Given the description of an element on the screen output the (x, y) to click on. 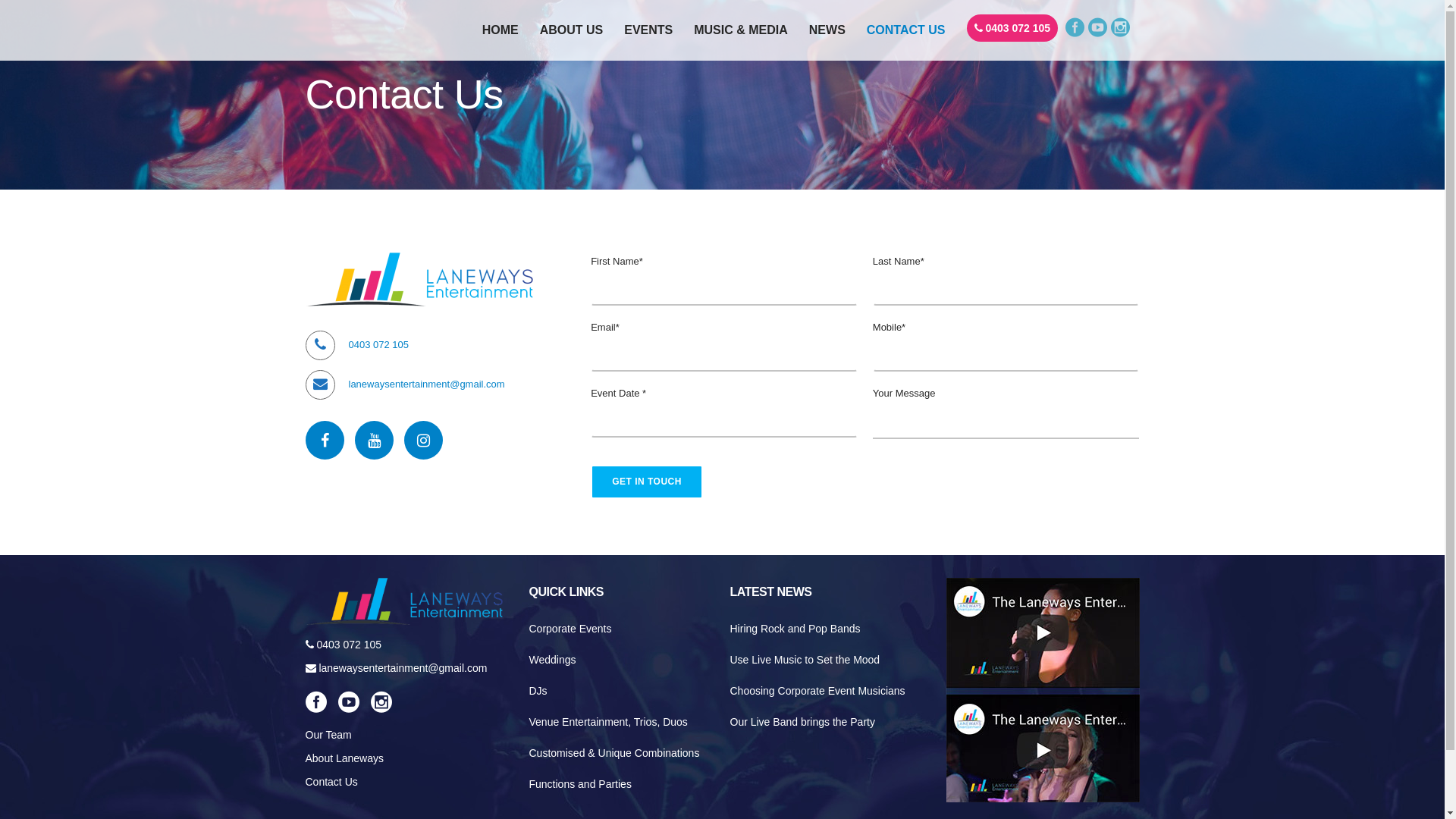
lanewaysentertainment@gmail.com Element type: text (426, 383)
HOME Element type: text (500, 30)
EVENTS Element type: text (648, 30)
CONTACT US Element type: text (906, 30)
DJs Element type: text (622, 690)
Venue Entertainment, Trios, Duos Element type: text (622, 722)
0403 072 105 Element type: text (378, 344)
0403 072 105 Element type: text (342, 644)
ABOUT US Element type: text (571, 30)
Our Team Element type: text (327, 734)
NEWS Element type: text (827, 30)
GET IN TOUCH Element type: text (646, 481)
lanewaysentertainment@gmail.com Element type: text (395, 668)
Customised & Unique Combinations Element type: text (622, 753)
Choosing Corporate Event Musicians Element type: text (827, 690)
Contact Us Element type: text (330, 781)
Functions and Parties Element type: text (622, 784)
Corporate Events Element type: text (622, 628)
About Laneways Element type: text (343, 758)
Weddings Element type: text (622, 659)
0403 072 105 Element type: text (1011, 27)
Our Live Band brings the Party Element type: text (827, 722)
MUSIC & MEDIA Element type: text (740, 30)
Use Live Music to Set the Mood Element type: text (827, 659)
Hiring Rock and Pop Bands Element type: text (827, 628)
